Given the description of an element on the screen output the (x, y) to click on. 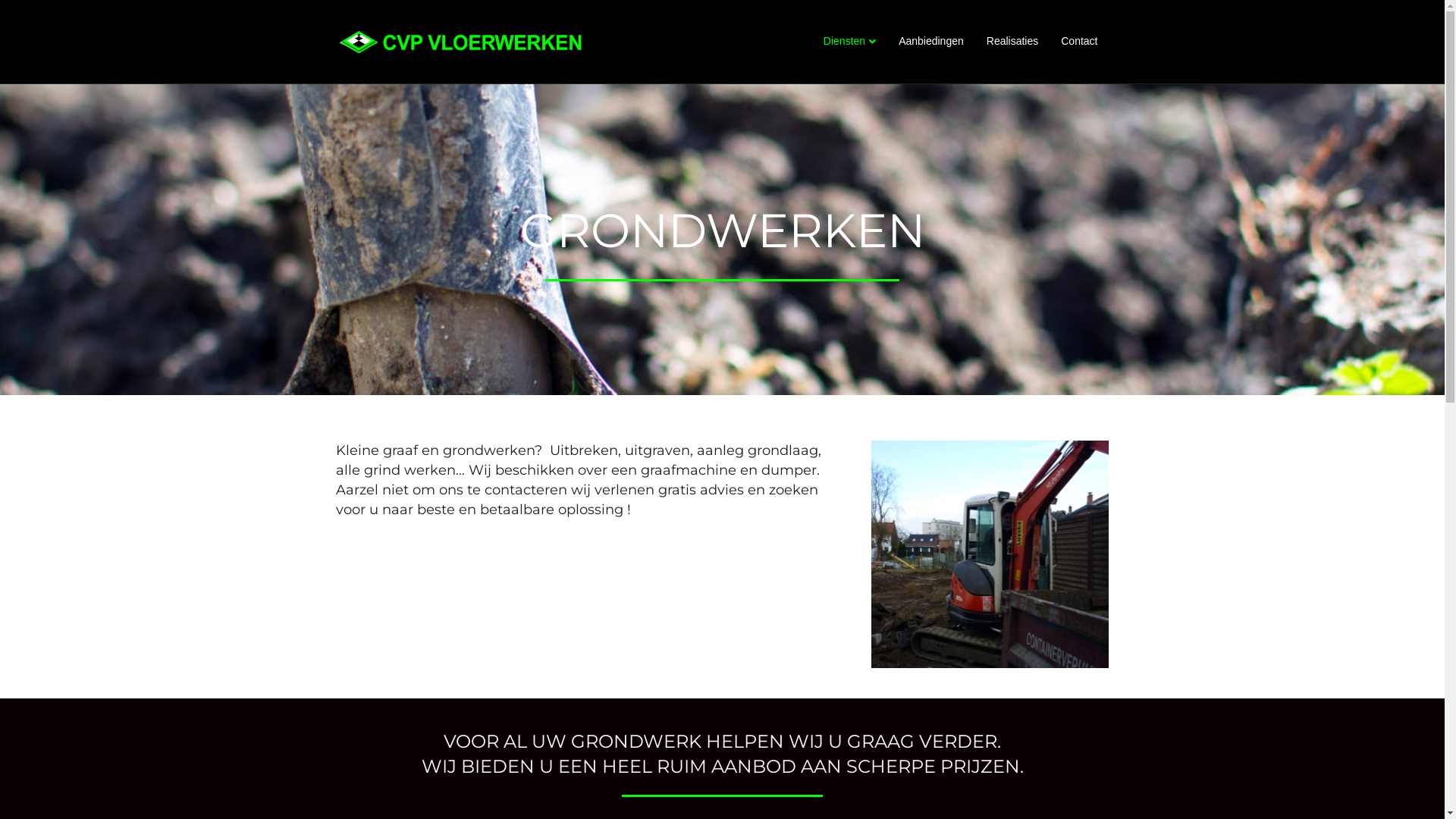
Realisaties Element type: text (1012, 41)
Aanbiedingen Element type: text (931, 41)
Contact Element type: text (1078, 41)
Diensten Element type: text (849, 41)
